Given the description of an element on the screen output the (x, y) to click on. 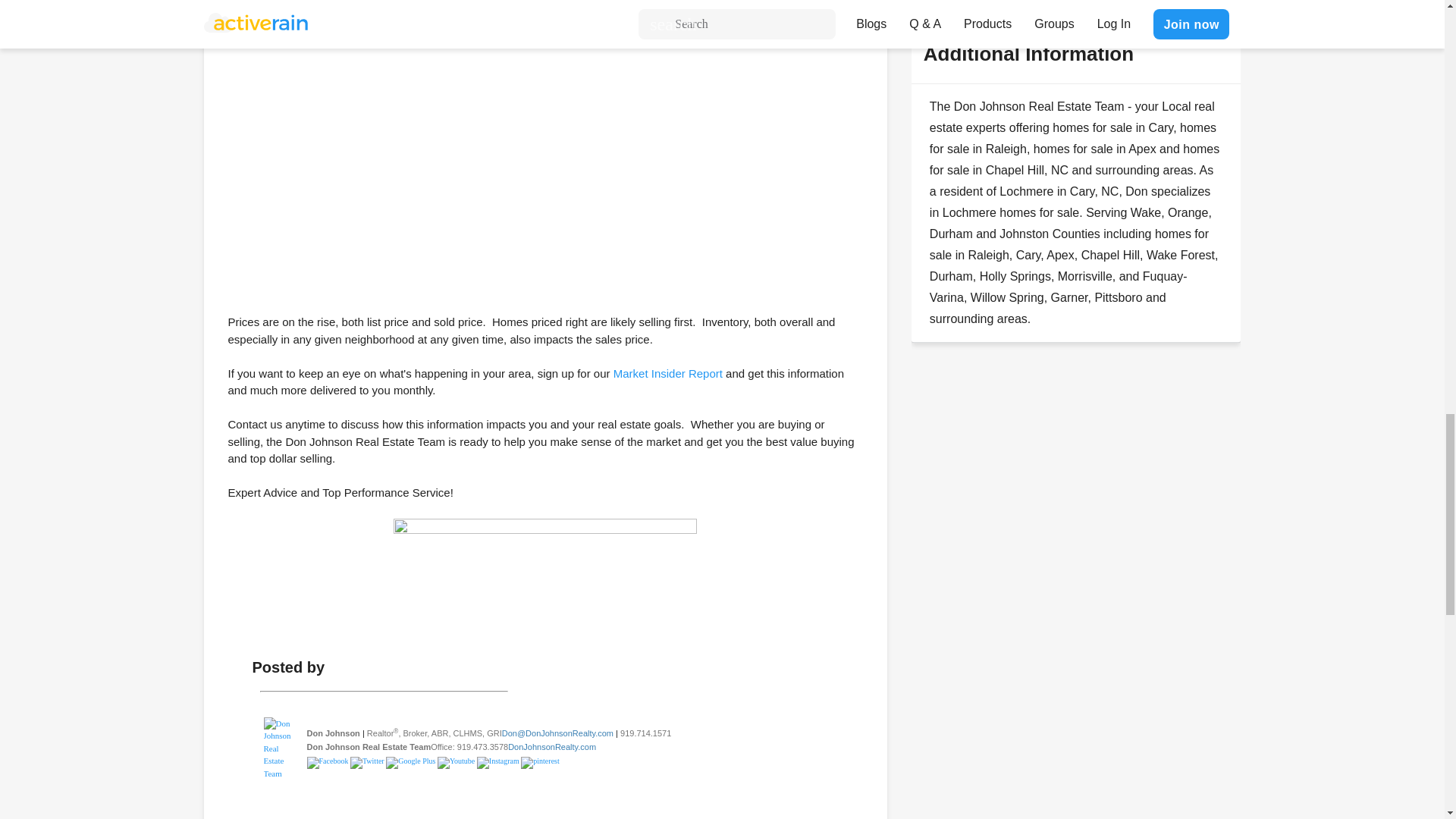
DonJohnsonRealty.com (551, 746)
Market Insider Report (667, 373)
